Given the description of an element on the screen output the (x, y) to click on. 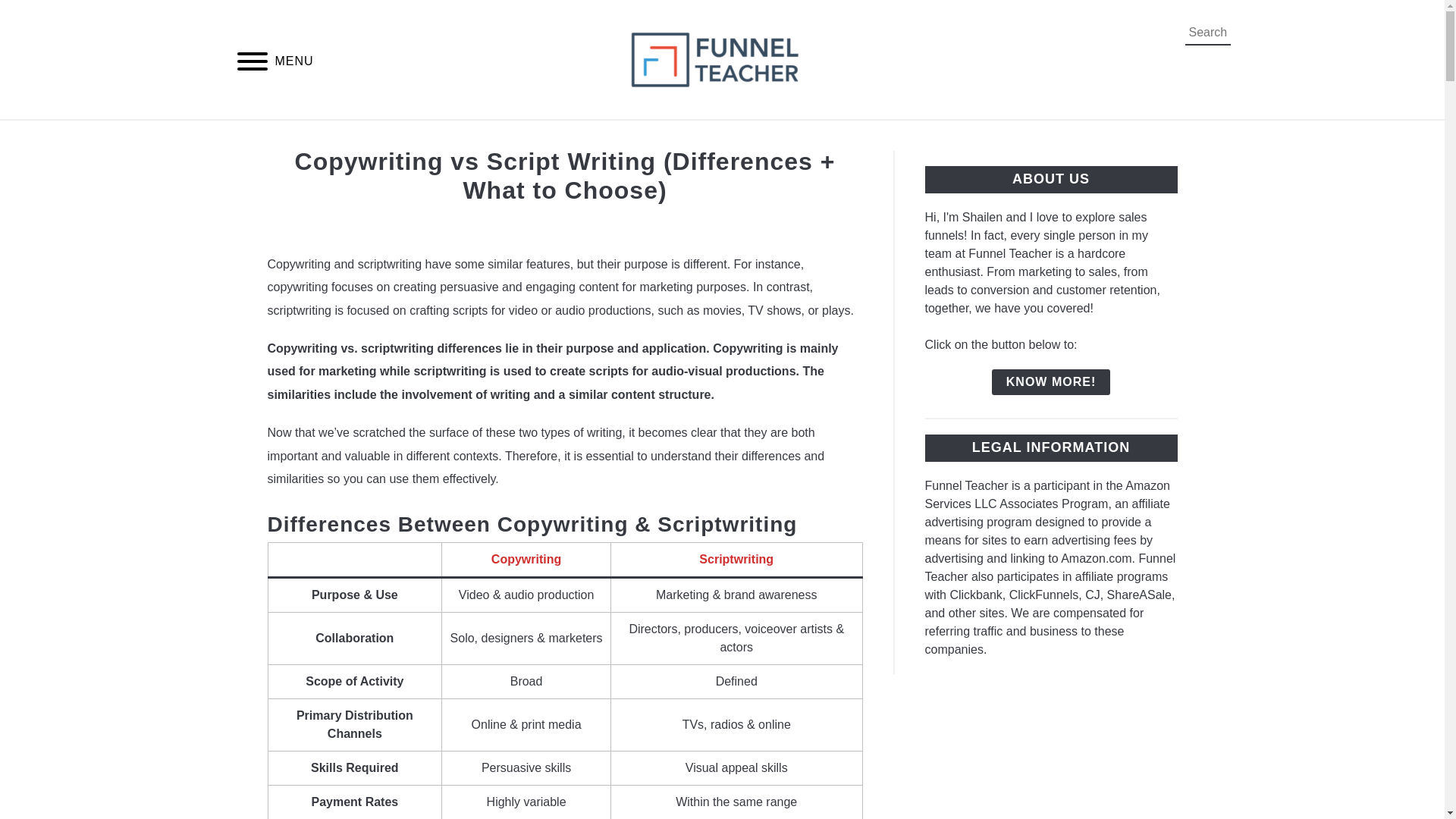
MARKETING (841, 137)
TOOLS (935, 137)
KNOW MORE! (1050, 381)
ABOUT US (1024, 137)
COPYWRITING (557, 137)
FUNNEL CONCEPTS (703, 137)
MENU (251, 63)
COMPARISON (432, 137)
